Given the description of an element on the screen output the (x, y) to click on. 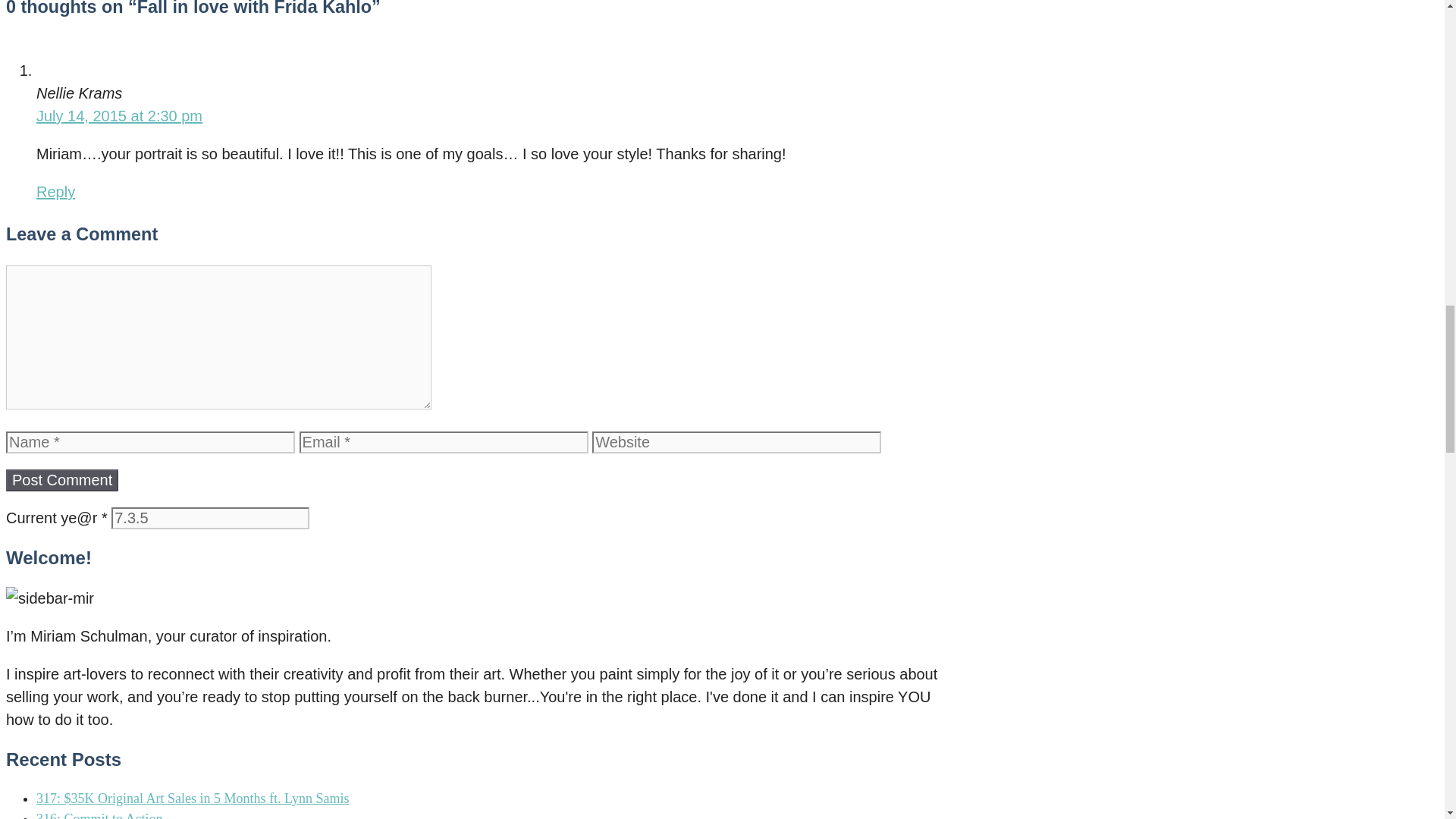
Post Comment (61, 480)
7.3.5 (210, 517)
sidebar-mir (49, 598)
